Given the description of an element on the screen output the (x, y) to click on. 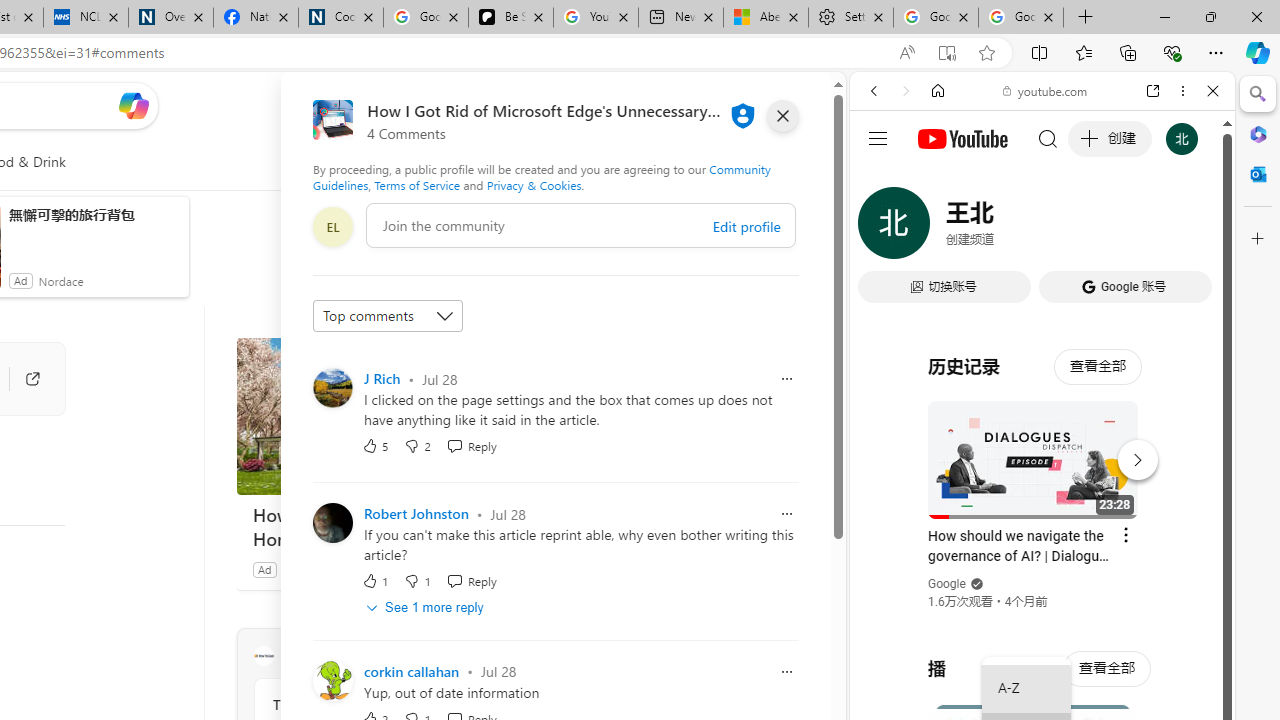
comment-box (581, 225)
Sort comments by (388, 315)
Go to publisher's site (22, 378)
Visit HowToGeek website (511, 655)
Report comment (786, 671)
Privacy & Cookies (534, 184)
Microsoft rewards (707, 105)
Robert Johnston (415, 513)
